Given the description of an element on the screen output the (x, y) to click on. 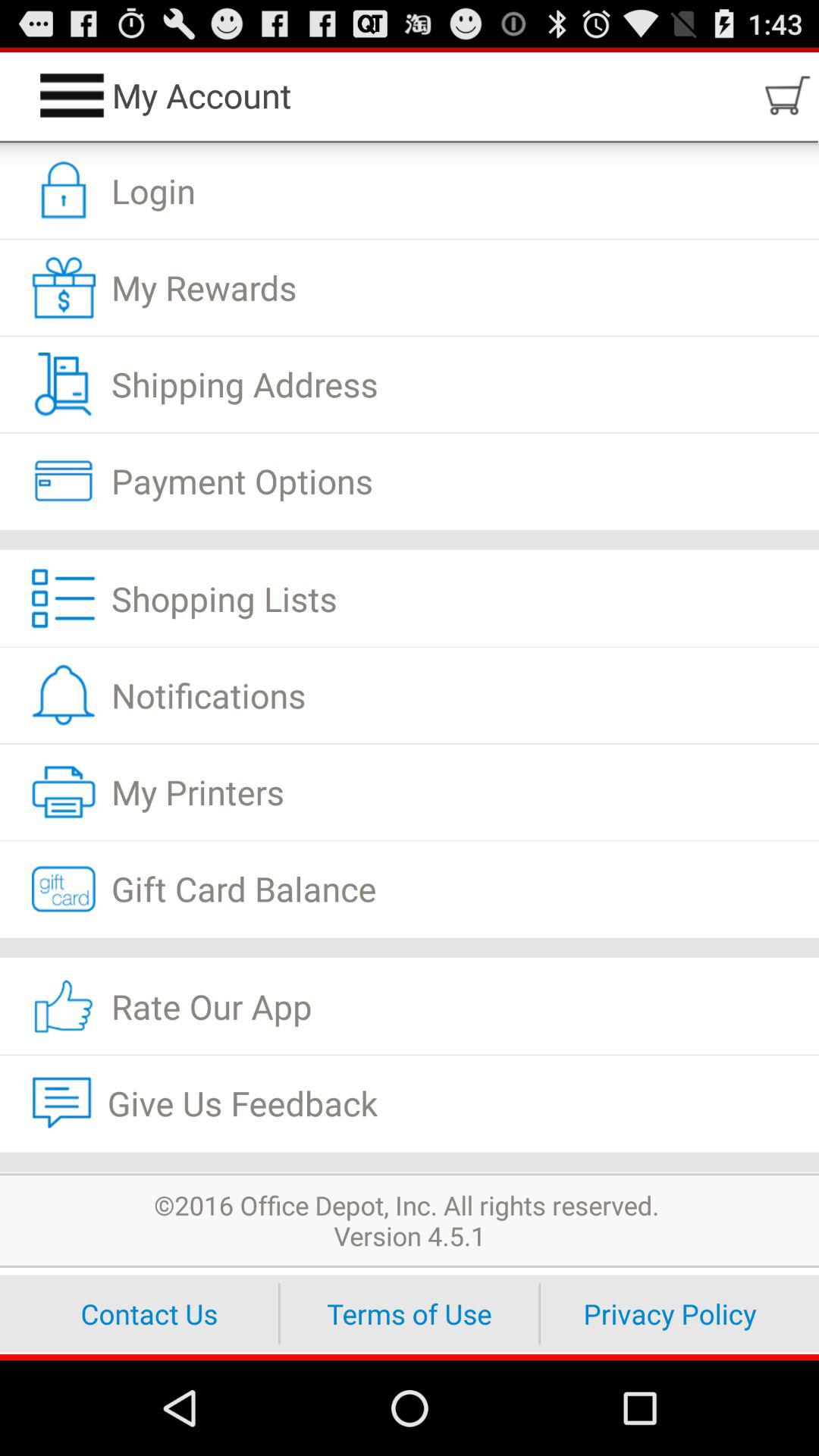
click the app below rate our app (409, 1103)
